Given the description of an element on the screen output the (x, y) to click on. 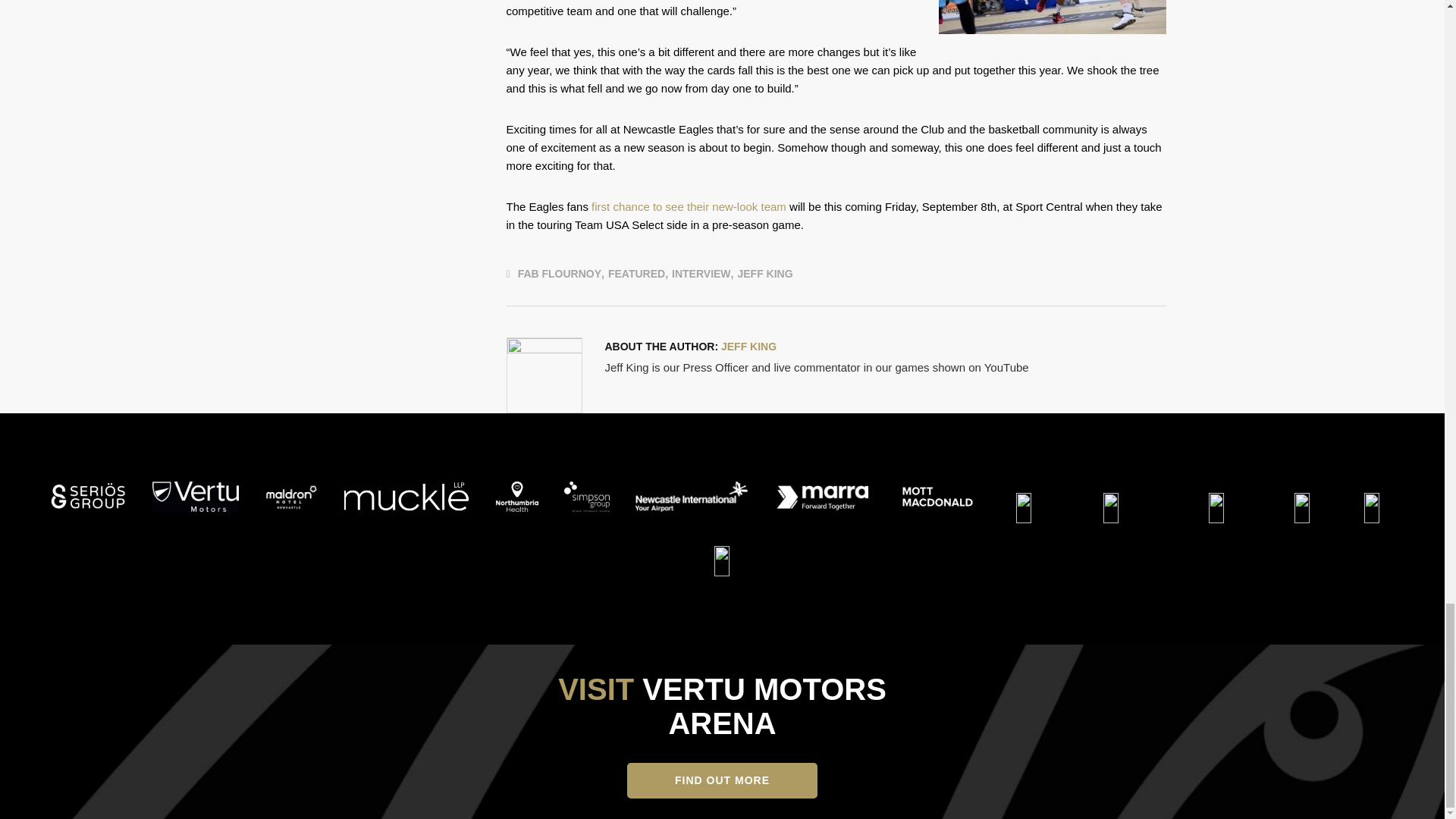
Simpson Group (587, 496)
Muckle LLP (406, 496)
Vertu Honda (195, 496)
Maldron Hotel Newcastle (291, 496)
Newcastle International Airport (691, 496)
Serios Group (87, 496)
Northumbria Health (516, 496)
